Given the description of an element on the screen output the (x, y) to click on. 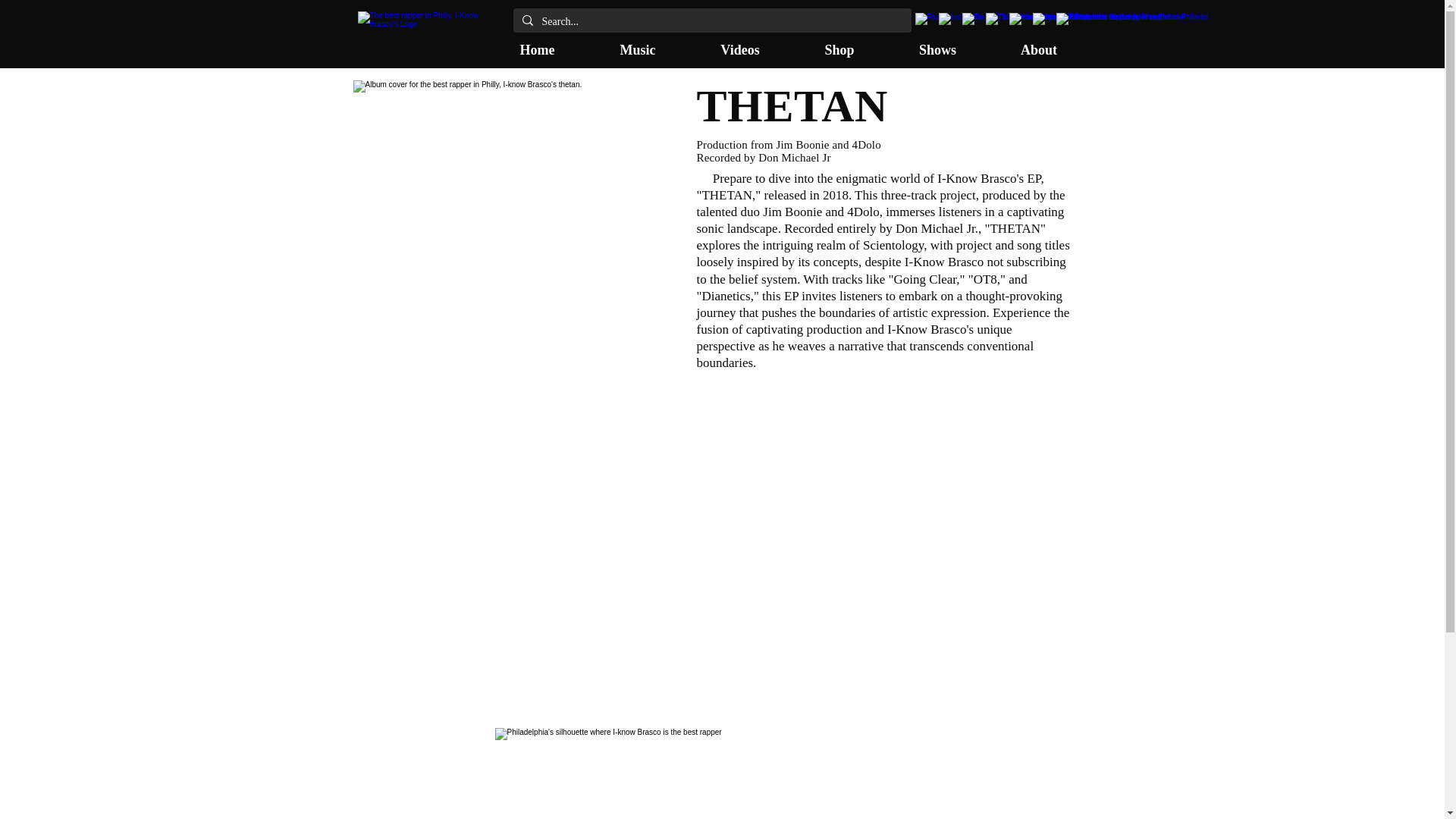
About (1038, 46)
Home (536, 46)
White Logo.png (430, 37)
Music (636, 46)
Videos (740, 46)
Shows (937, 46)
Shop (839, 46)
